Given the description of an element on the screen output the (x, y) to click on. 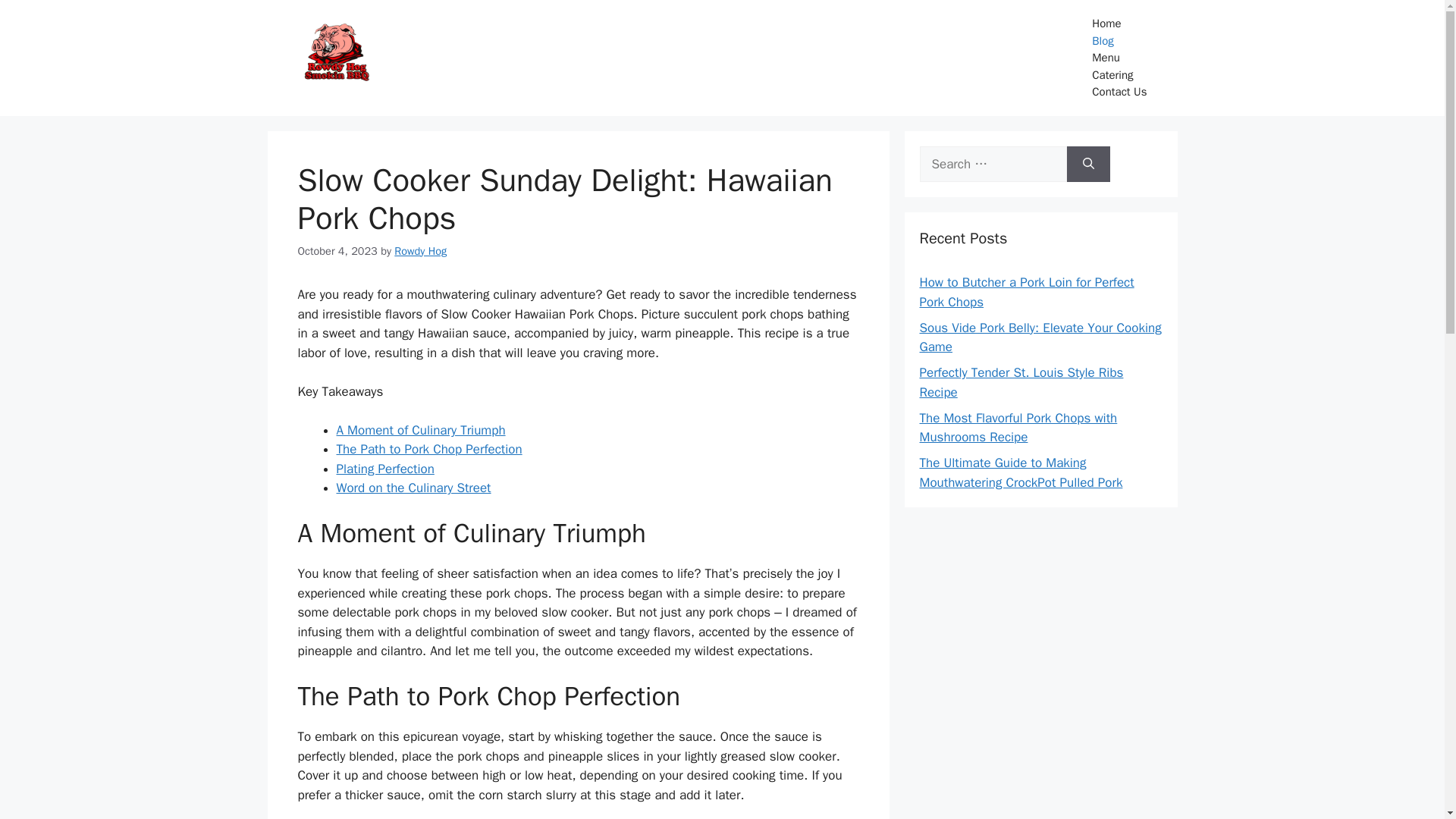
The Path to Pork Chop Perfection (429, 449)
Menu (1119, 57)
Catering (1119, 75)
Blog (1119, 40)
Sous Vide Pork Belly: Elevate Your Cooking Game (1039, 337)
Home (1119, 23)
Search for: (991, 163)
Word on the Culinary Street (414, 487)
Plating Perfection (384, 468)
Contact Us (1119, 91)
Rowdy Hog (420, 250)
A Moment of Culinary Triumph (420, 430)
The Most Flavorful Pork Chops with Mushrooms Recipe (1017, 427)
How to Butcher a Pork Loin for Perfect Pork Chops (1026, 292)
